Given the description of an element on the screen output the (x, y) to click on. 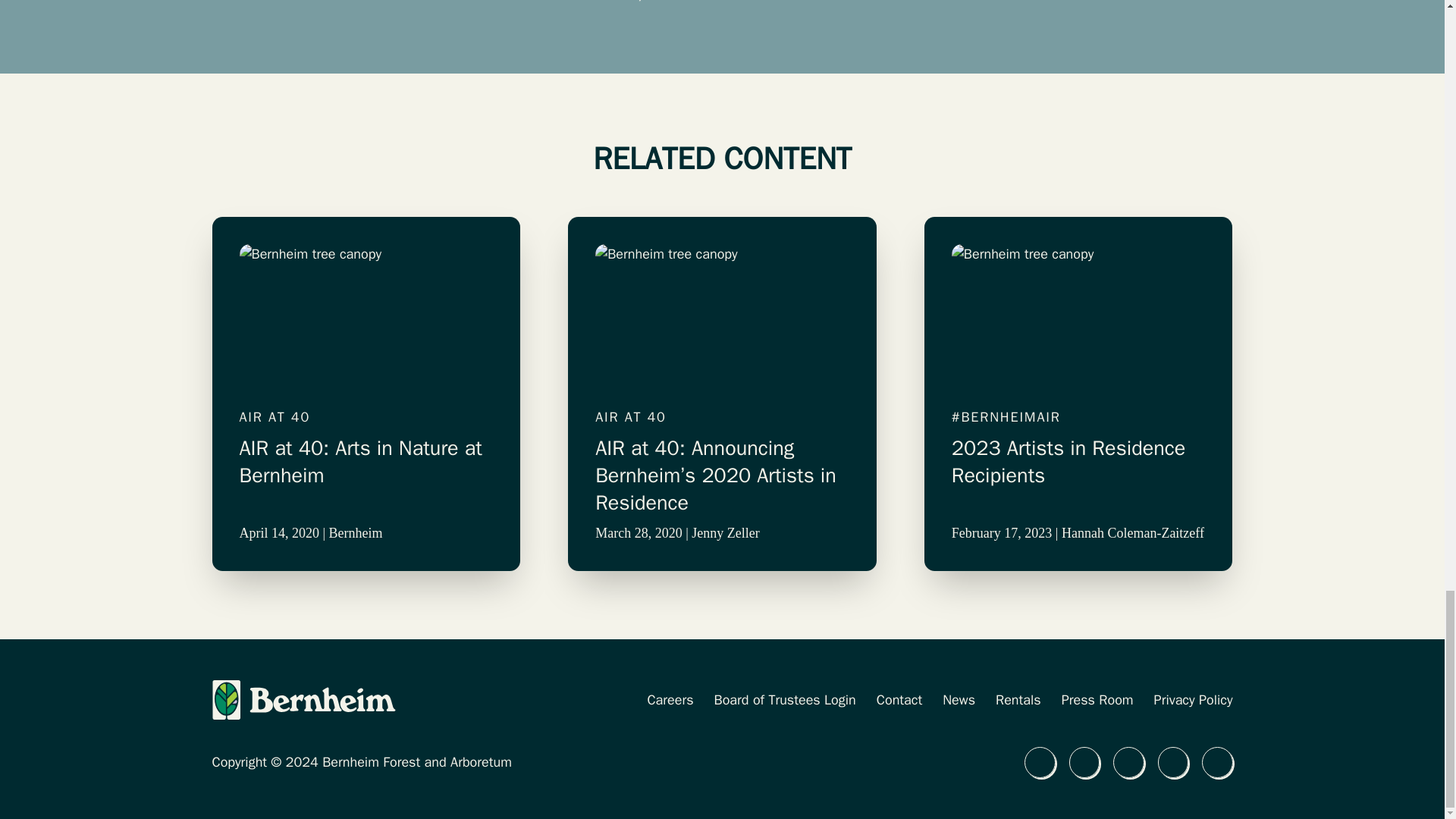
Bernheim (355, 532)
2023 Artists in Residence Recipients (1078, 475)
AIR AT 40 (366, 417)
AIR at 40: Arts in Nature at Bernheim (366, 475)
AIR AT 40 (721, 417)
Jenny Zeller (724, 532)
Hannah Coleman-Zaitzeff (1132, 532)
